Given the description of an element on the screen output the (x, y) to click on. 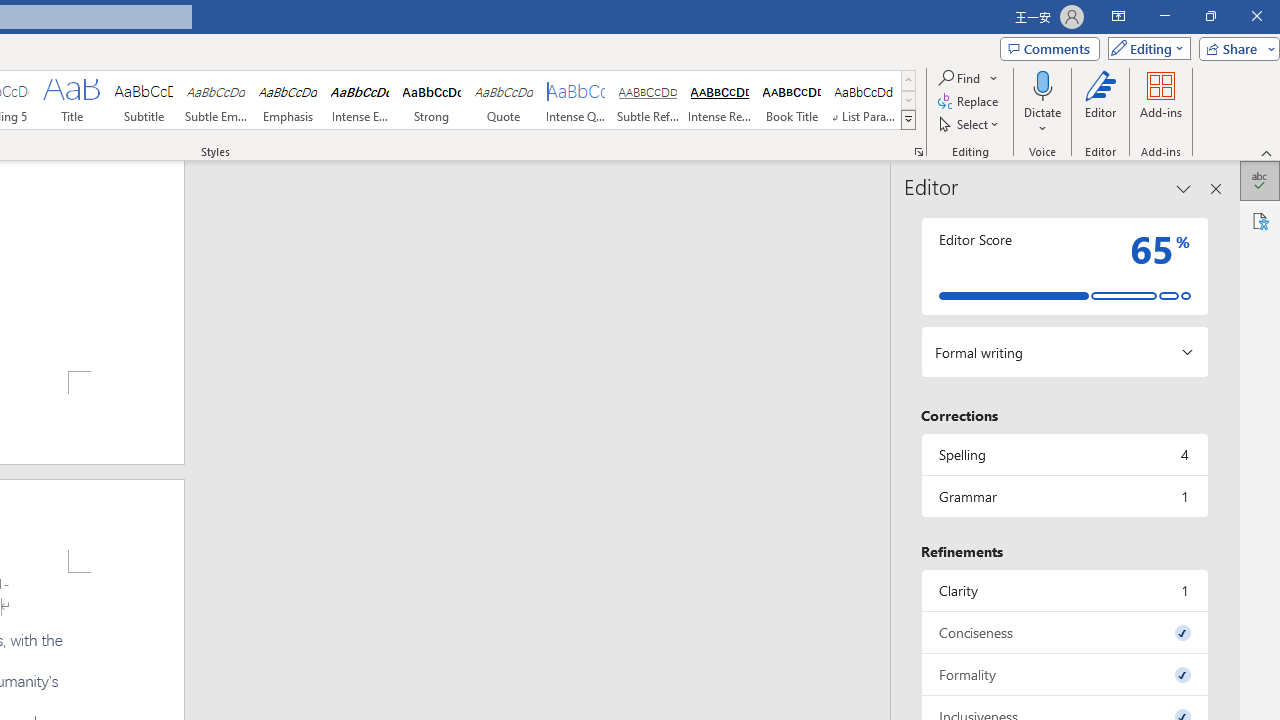
Intense Quote (575, 100)
Dictate (1042, 84)
Subtle Emphasis (216, 100)
Row Down (908, 100)
Subtitle (143, 100)
Collapse the Ribbon (1267, 152)
Book Title (792, 100)
Replace... (969, 101)
Row up (908, 79)
Title (71, 100)
Grammar, 1 issue. Press space or enter to review items. (1064, 495)
Conciseness, 0 issues. Press space or enter to review items. (1064, 632)
